Given the description of an element on the screen output the (x, y) to click on. 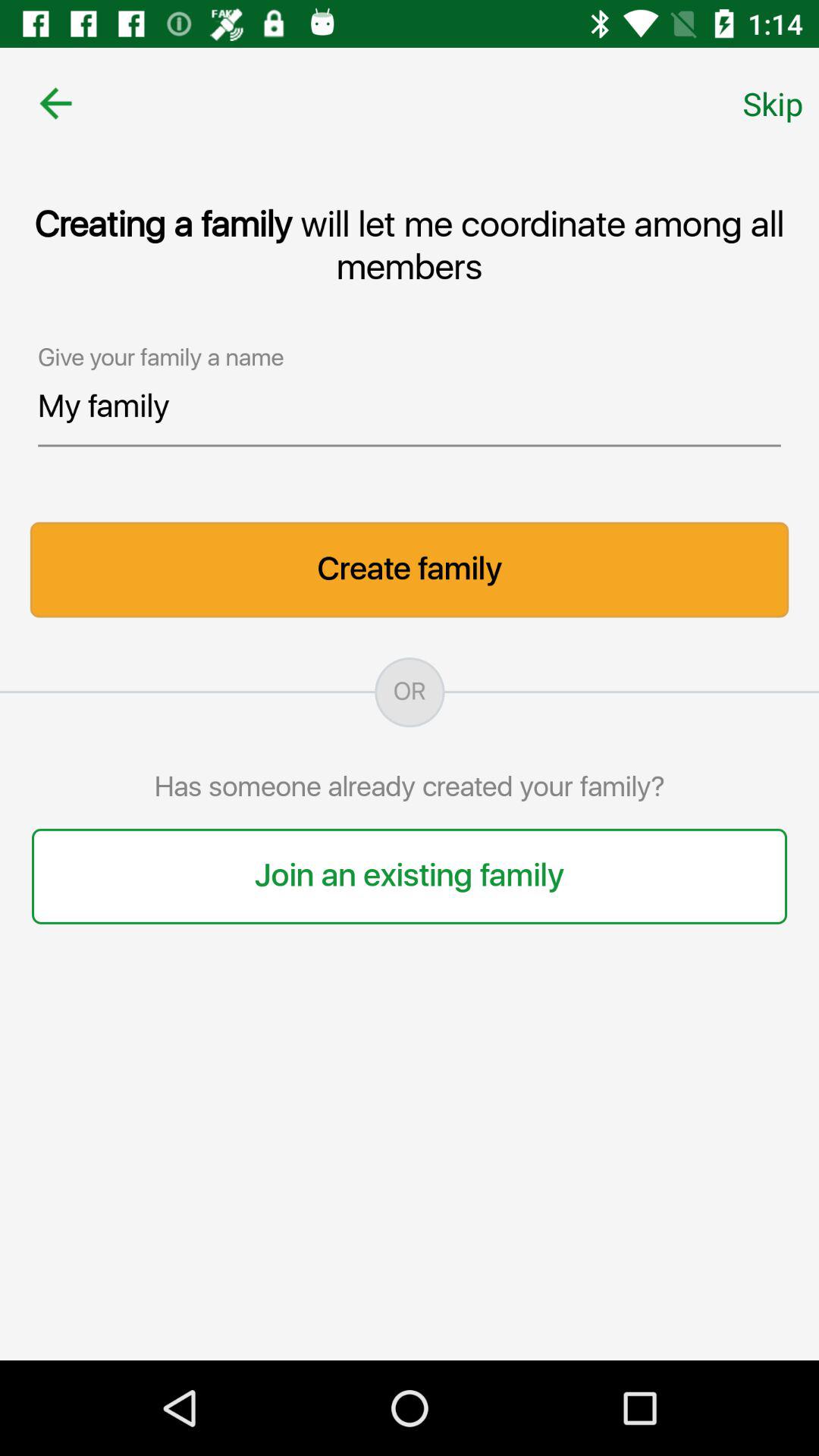
launch item above the creating a family item (772, 103)
